Given the description of an element on the screen output the (x, y) to click on. 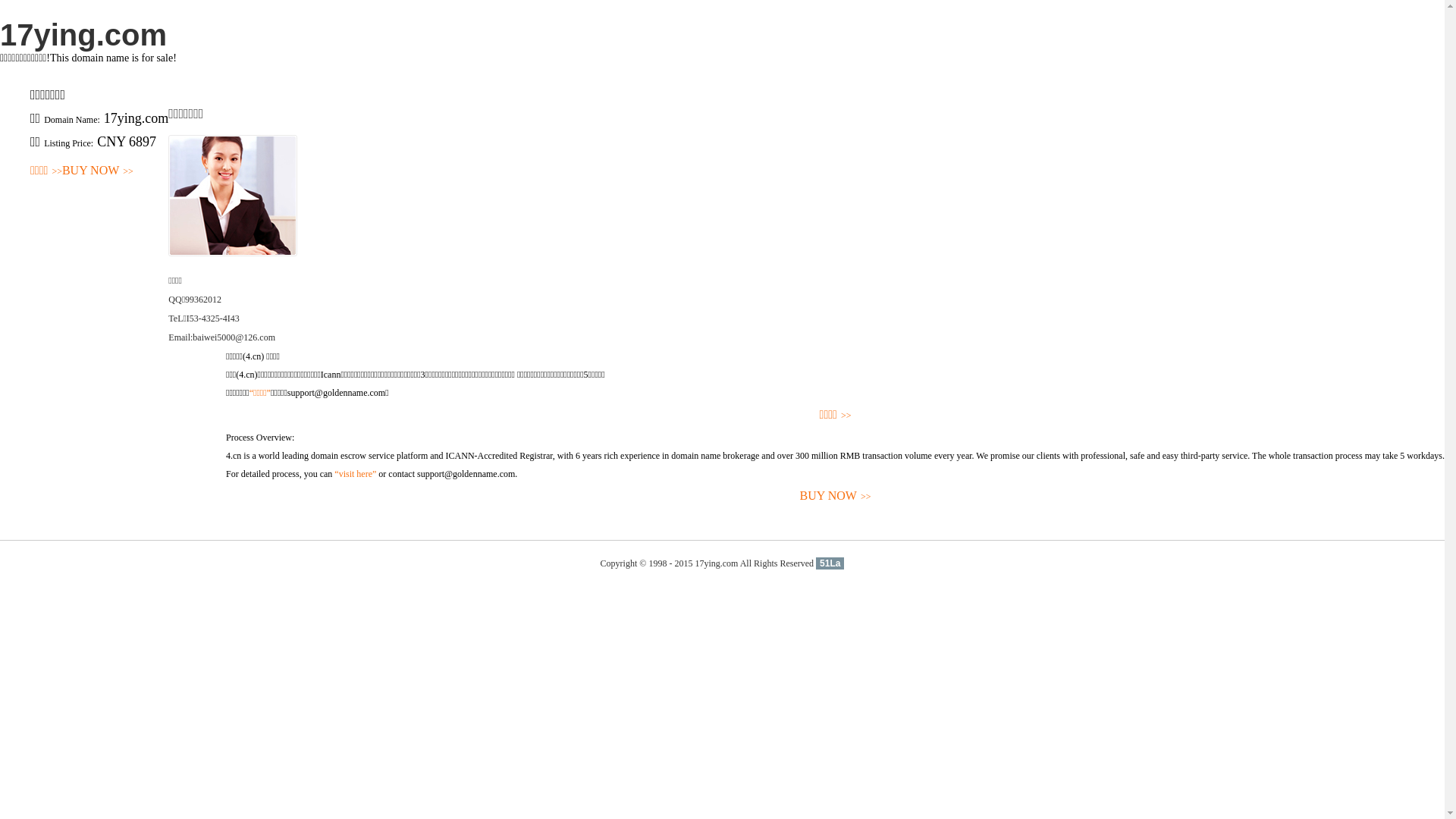
BUY NOW>> Element type: text (834, 496)
51La Element type: text (829, 563)
BUY NOW>> Element type: text (97, 170)
